Given the description of an element on the screen output the (x, y) to click on. 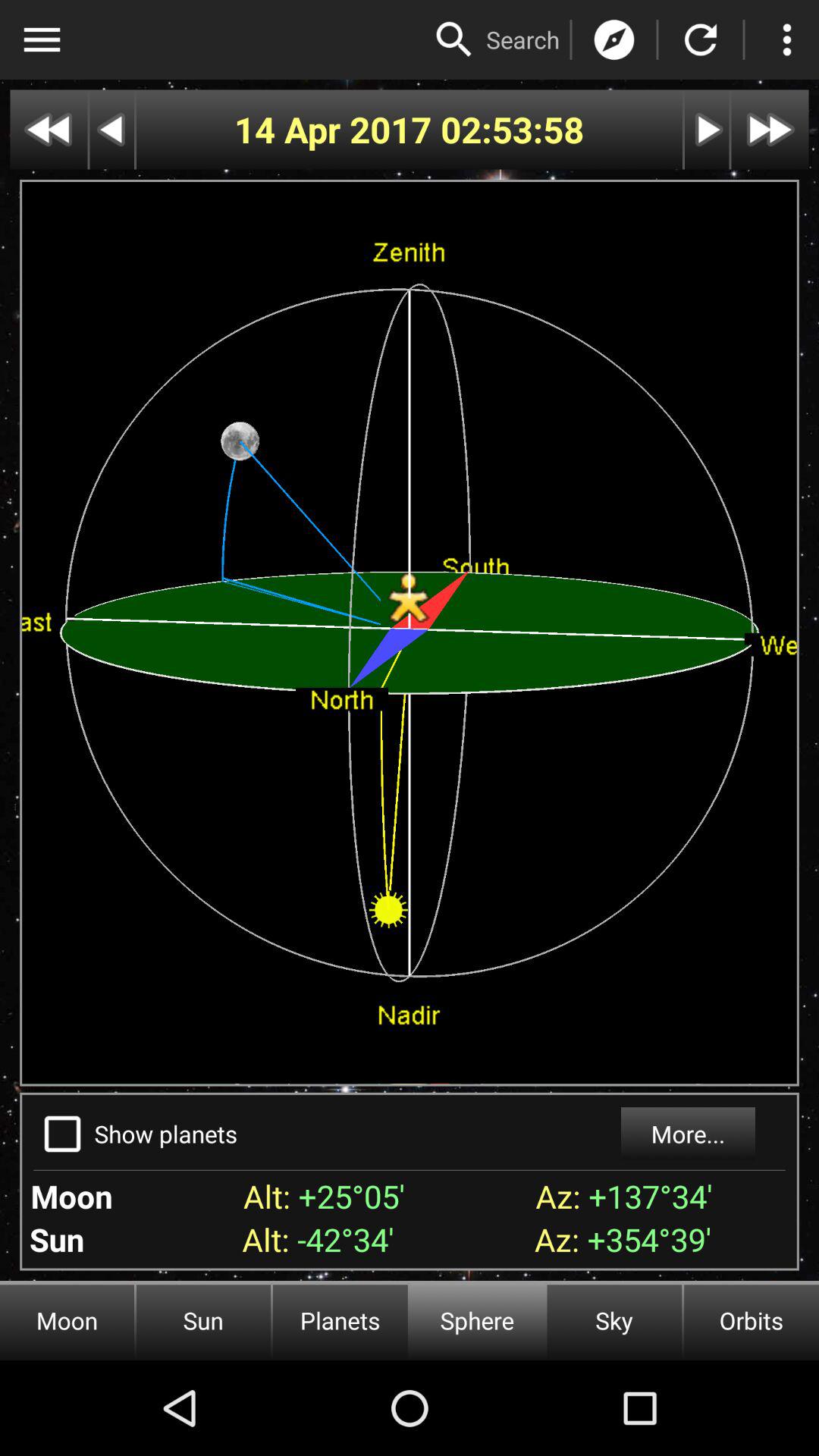
press the search item (522, 39)
